Given the description of an element on the screen output the (x, y) to click on. 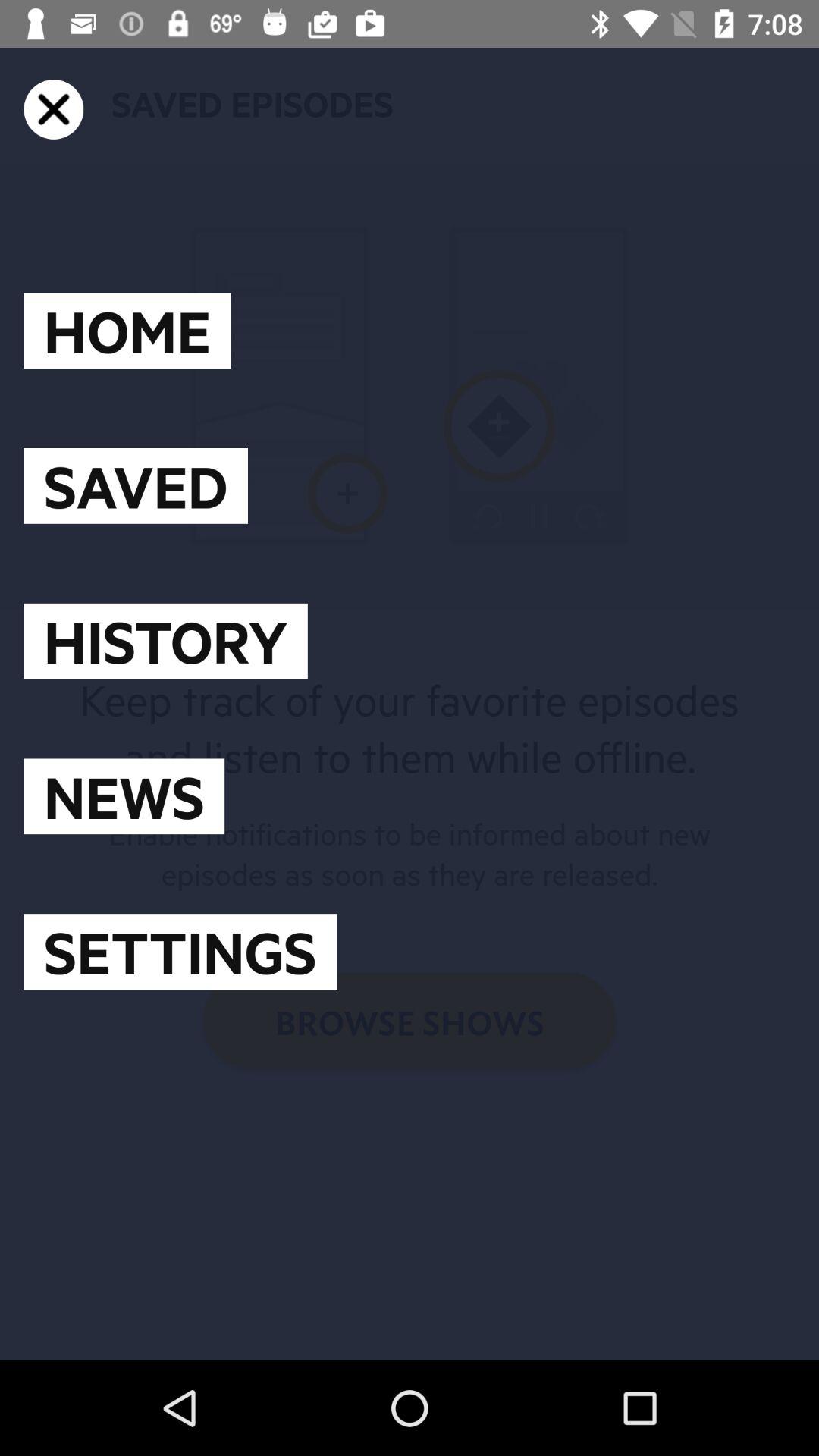
flip to news icon (123, 796)
